Given the description of an element on the screen output the (x, y) to click on. 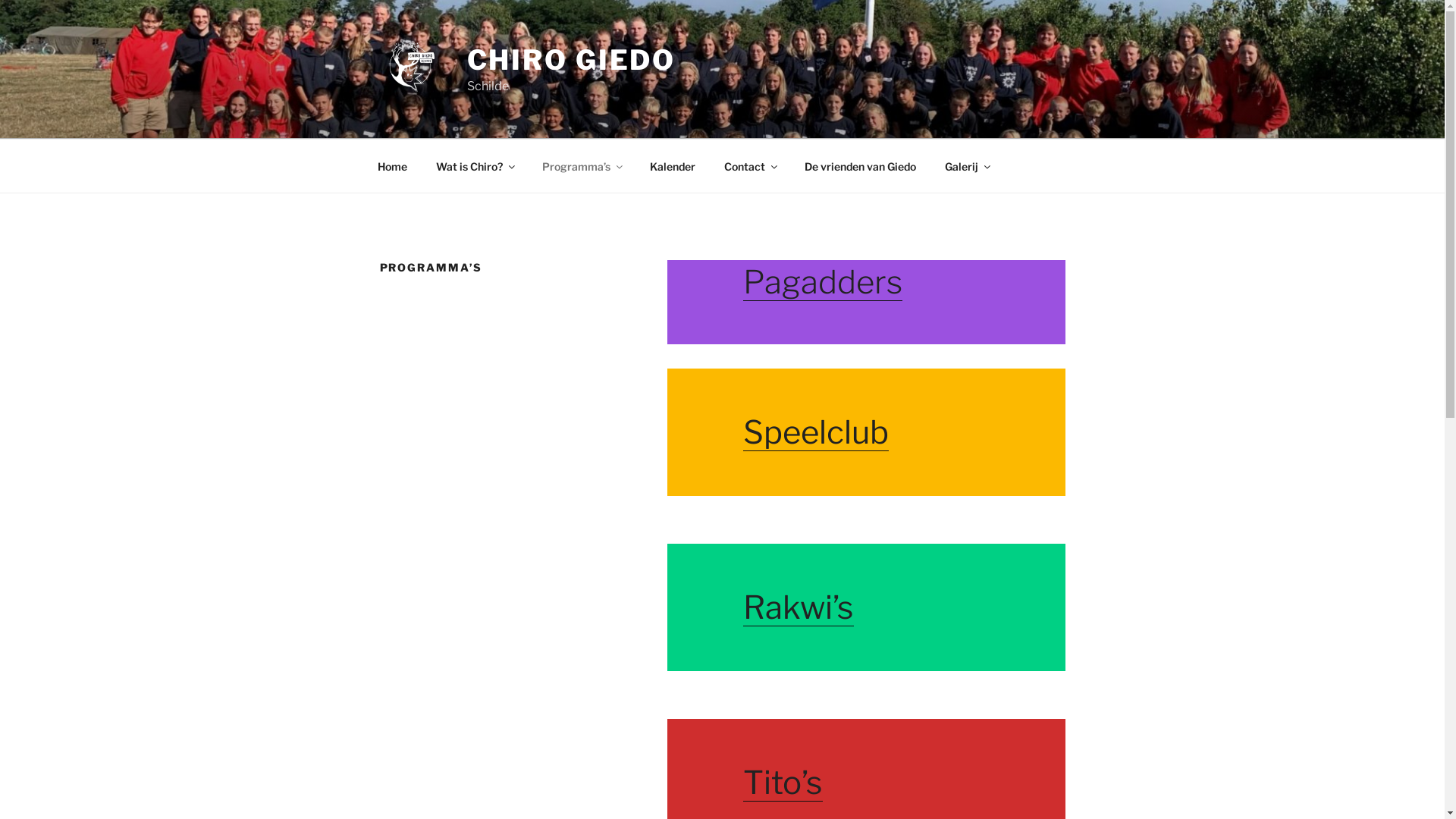
Galerij Element type: text (966, 165)
Home Element type: text (392, 165)
Kalender Element type: text (673, 165)
Contact Element type: text (750, 165)
De vrienden van Giedo Element type: text (860, 165)
Pagadders Element type: text (822, 281)
Wat is Chiro? Element type: text (475, 165)
Speelclub Element type: text (815, 431)
CHIRO GIEDO Element type: text (571, 59)
